Given the description of an element on the screen output the (x, y) to click on. 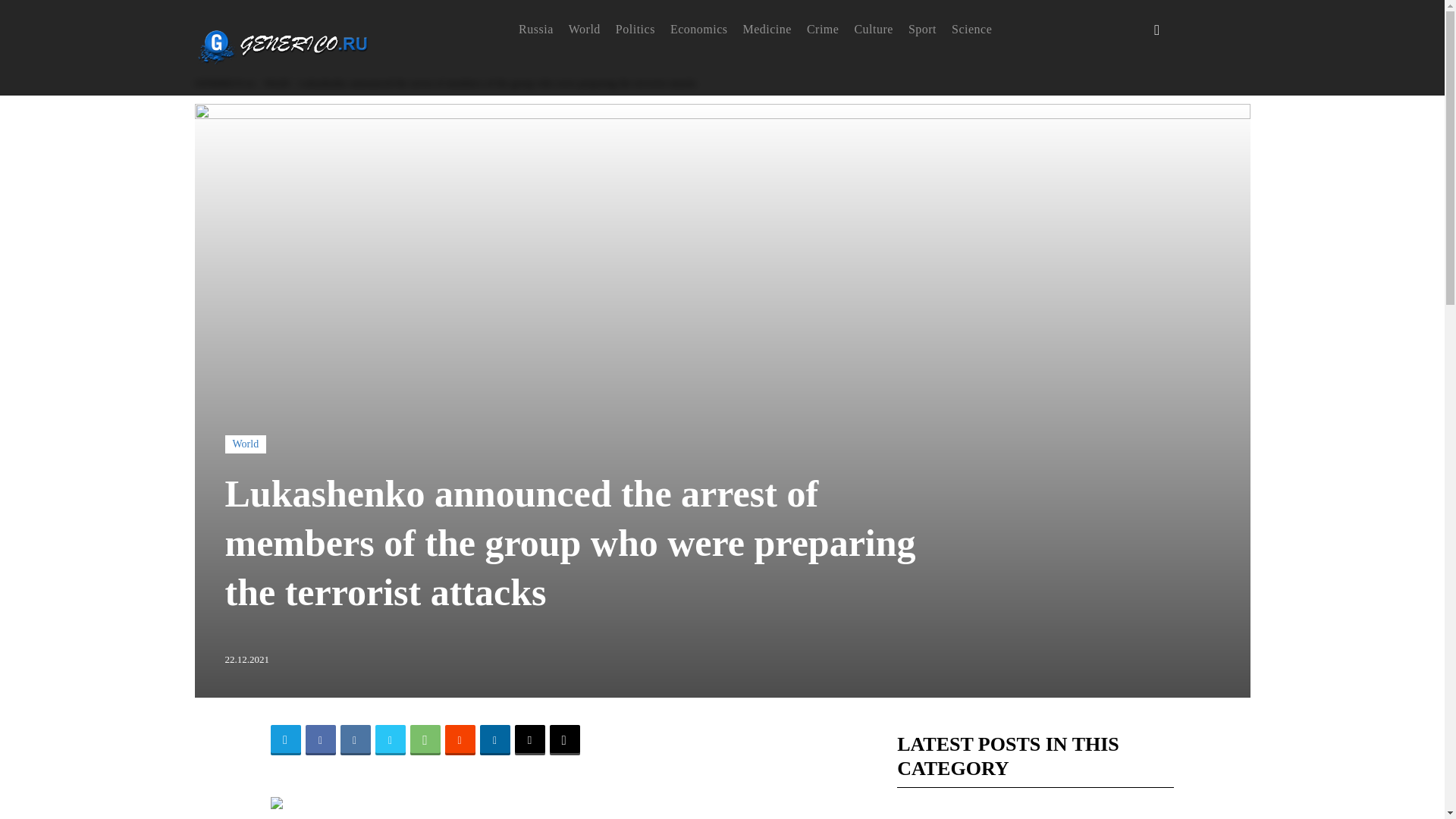
VK (354, 739)
World (276, 82)
World (245, 443)
View all posts in World (276, 82)
Twitter (389, 739)
WhatsApp (424, 739)
Economics (698, 29)
Linkedin (494, 739)
Facebook (319, 739)
Telegram (284, 739)
Email (528, 739)
GENERICO.ru (223, 82)
ReddIt (459, 739)
